Given the description of an element on the screen output the (x, y) to click on. 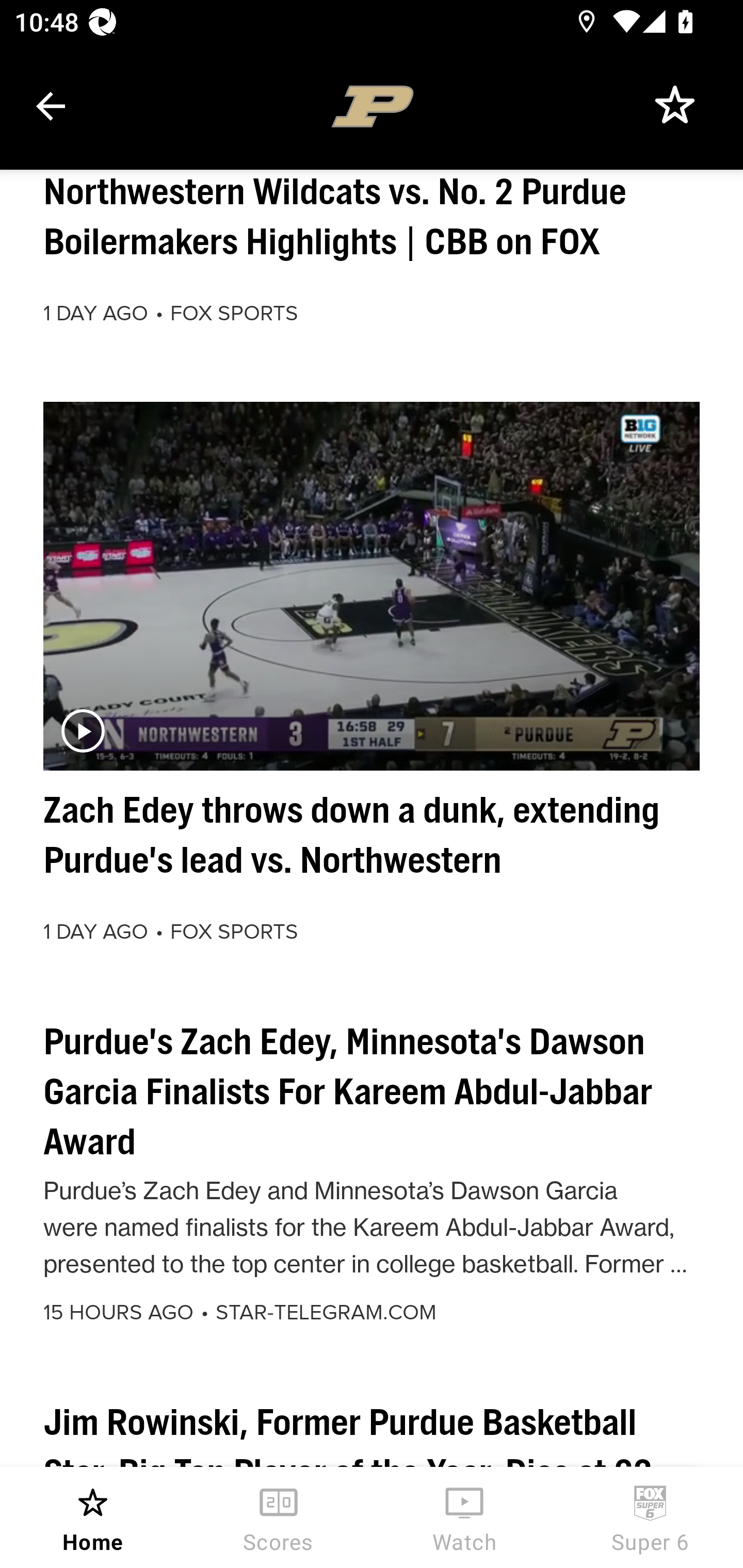
Navigate up (50, 106)
Scores (278, 1517)
Watch (464, 1517)
Super 6 (650, 1517)
